Given the description of an element on the screen output the (x, y) to click on. 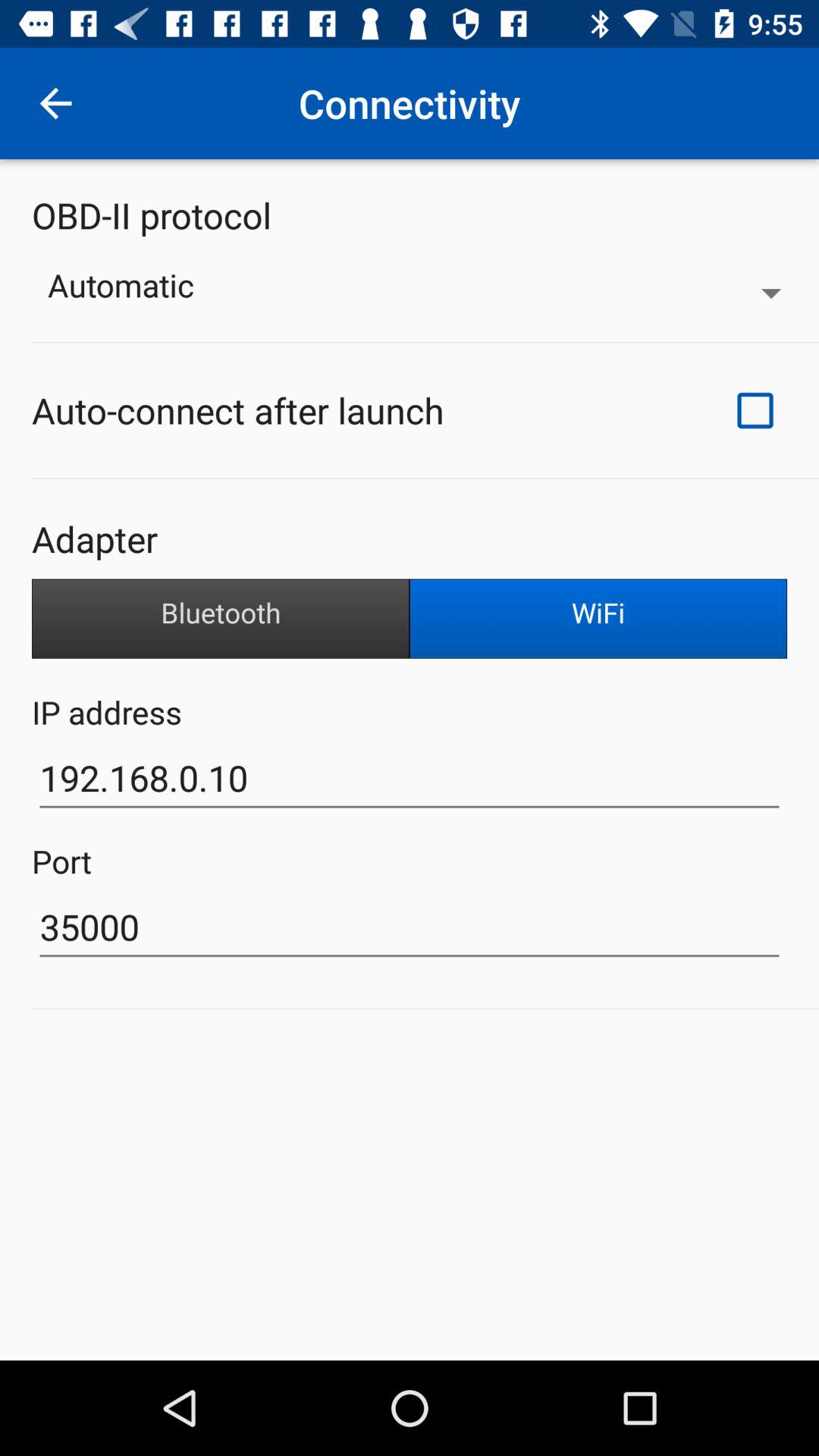
click item on the right (598, 618)
